Given the description of an element on the screen output the (x, y) to click on. 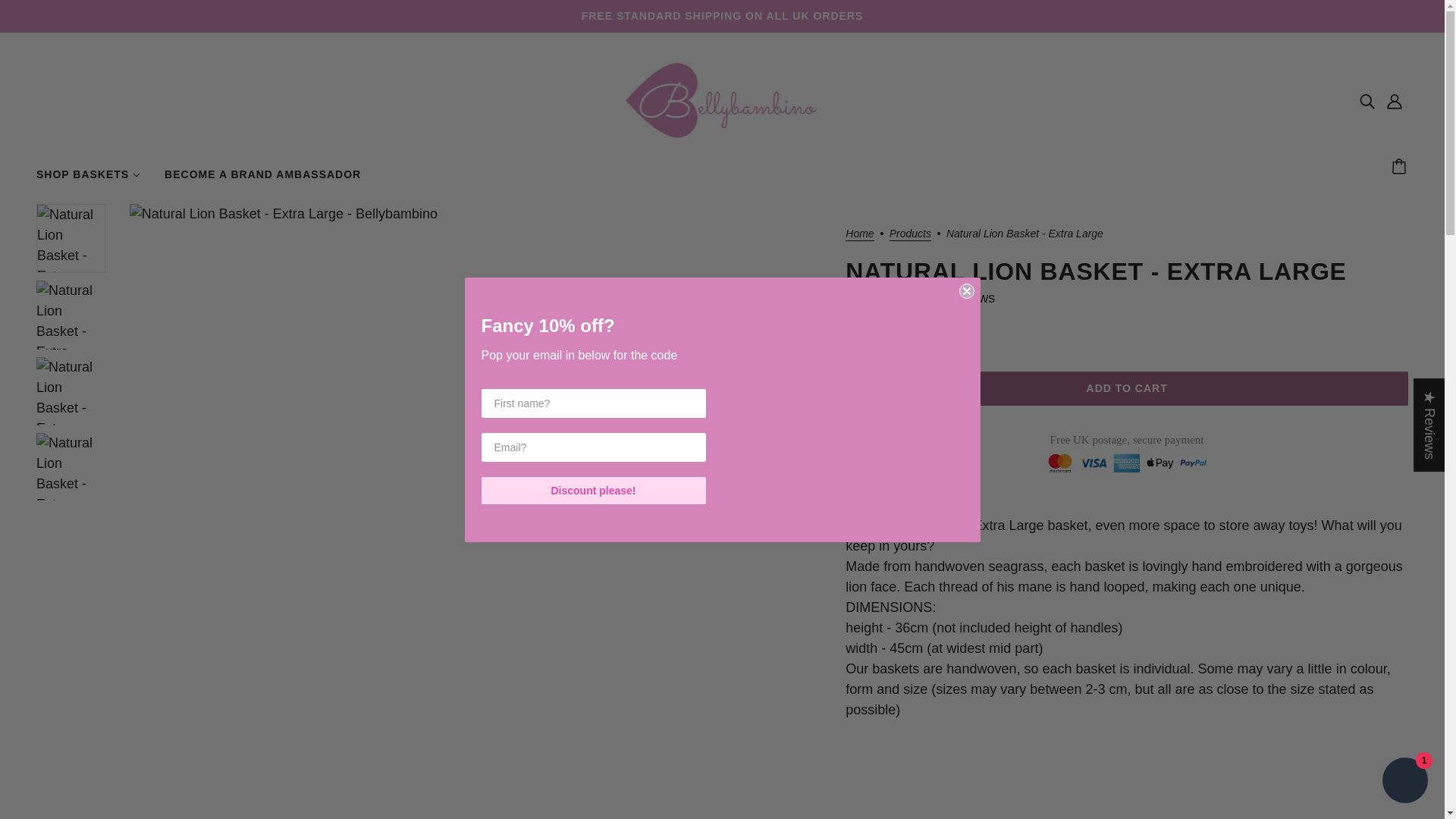
trust-badges-widget (1126, 458)
ADD TO CART (1126, 388)
Bellybambino (722, 133)
Shopify online store chat (1404, 781)
BECOME A BRAND AMBASSADOR (262, 180)
Home (859, 234)
Products (910, 234)
SHOP BASKETS  (88, 180)
